Given the description of an element on the screen output the (x, y) to click on. 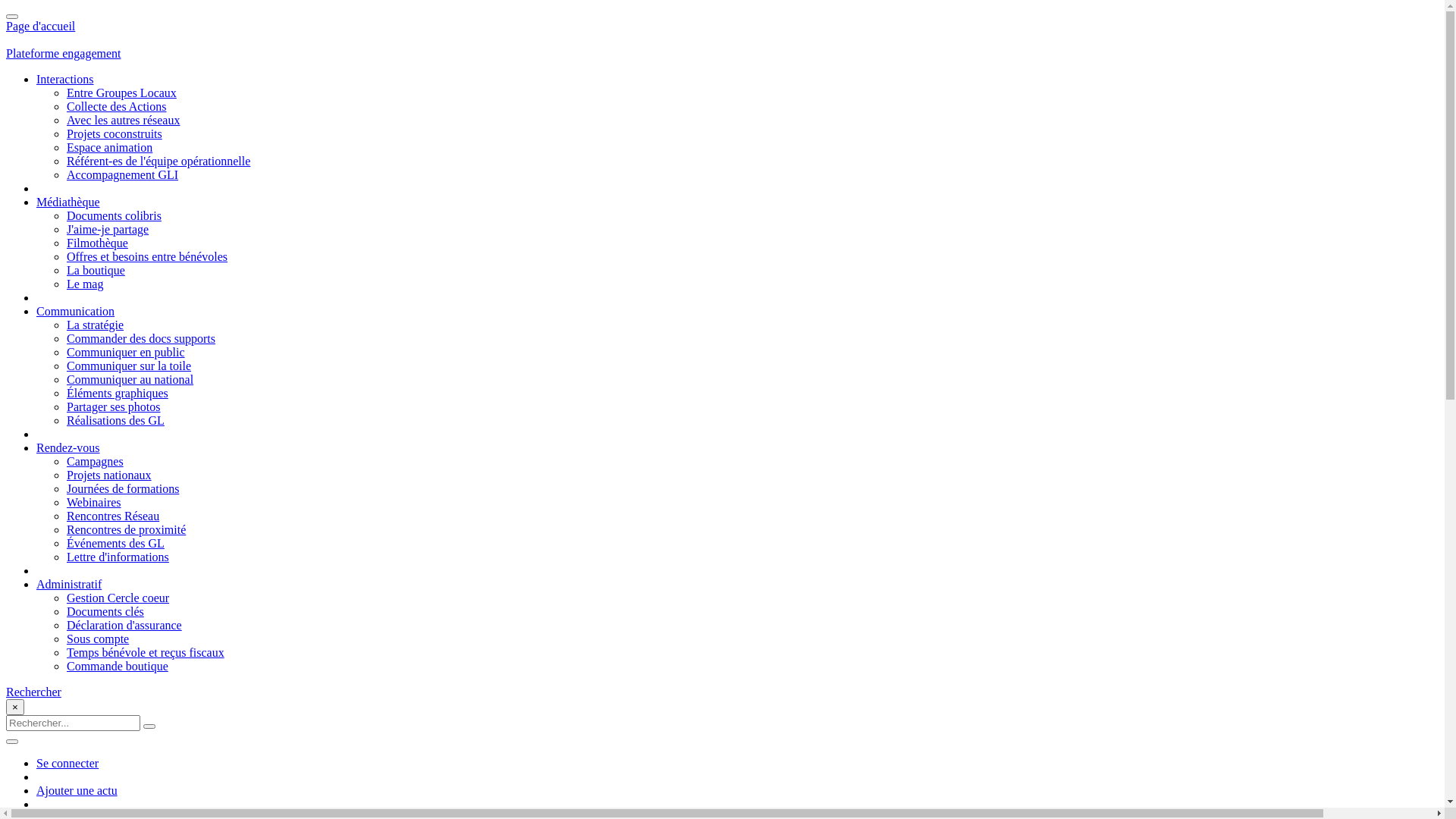
Interactions Element type: text (65, 78)
Webinaires Element type: text (93, 501)
Entre Groupes Locaux Element type: text (121, 92)
Rechercher Element type: text (33, 691)
Page d'accueil Element type: text (40, 25)
Le mag Element type: text (84, 283)
Partager ses photos Element type: text (113, 406)
Documents colibris Element type: text (113, 215)
Sous compte Element type: text (97, 638)
Communiquer sur la toile Element type: text (128, 365)
Communiquer au national Element type: text (129, 379)
Projets nationaux Element type: text (108, 474)
Se connecter Element type: text (67, 762)
La boutique Element type: text (95, 269)
Rendez-vous Element type: text (68, 447)
Collecte des Actions Element type: text (116, 106)
Communiquer en public Element type: text (125, 351)
Gestion Cercle coeur Element type: text (117, 597)
Rechercher les pages comportant ce texte. Element type: hover (149, 726)
Communication Element type: text (75, 310)
Projets coconstruits Element type: text (114, 133)
Ajouter une actu Element type: text (76, 790)
J'aime-je partage Element type: text (107, 228)
Accompagnement GLI Element type: text (122, 174)
Espace animation Element type: text (109, 147)
Plateforme engagement Element type: text (63, 53)
Rechercher dans YesWiki [alt-shift-C] Element type: hover (73, 723)
Lettre d'informations Element type: text (117, 556)
Commander des docs supports Element type: text (140, 338)
Campagnes Element type: text (94, 461)
Administratif Element type: text (68, 583)
Commande boutique Element type: text (117, 665)
